Given the description of an element on the screen output the (x, y) to click on. 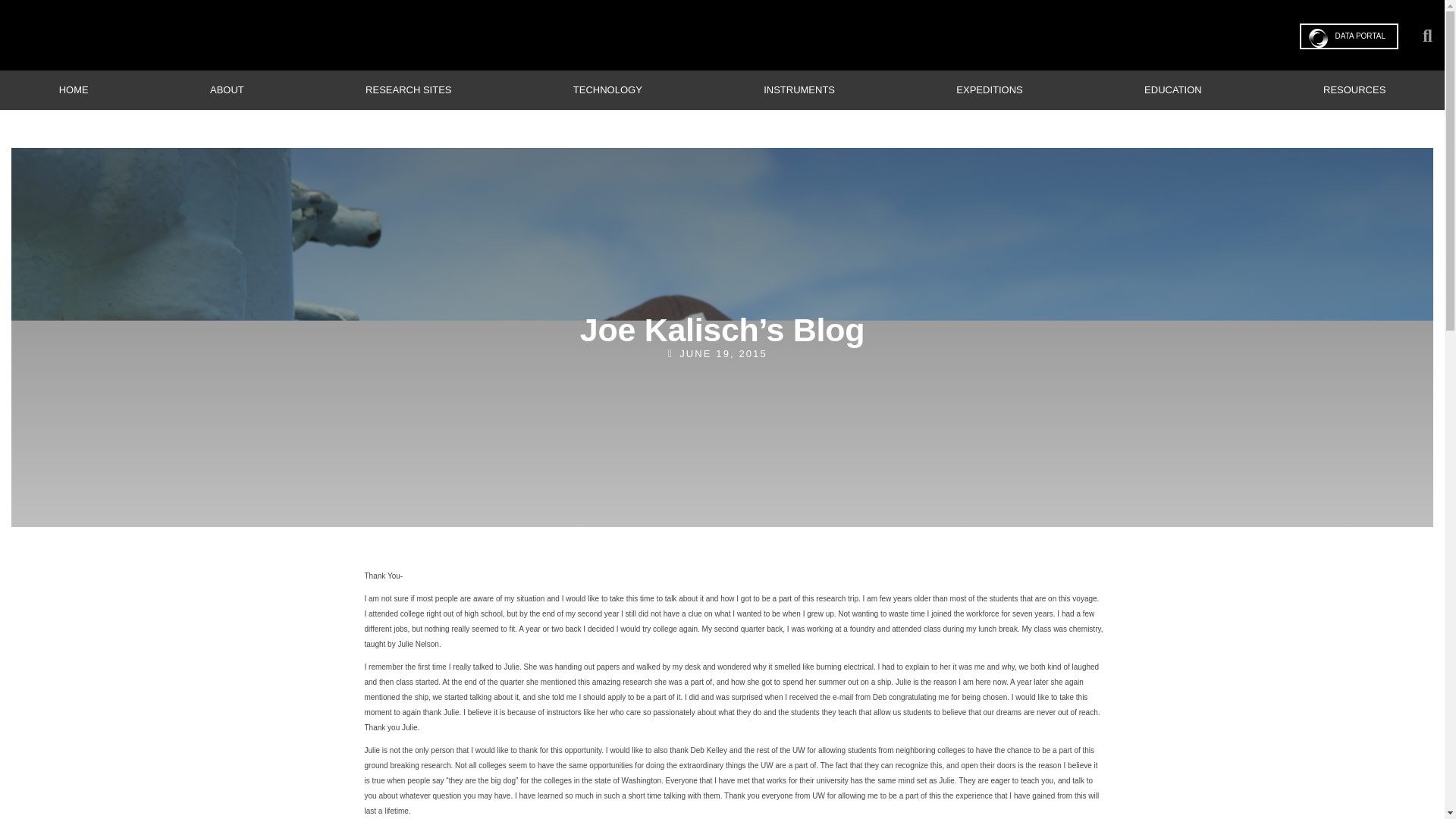
RESEARCH SITES (408, 89)
DATA PORTAL (1349, 36)
ABOUT (226, 89)
EXPEDITIONS (989, 89)
INSTRUMENTS (798, 89)
TECHNOLOGY (606, 89)
HOME (73, 89)
